Given the description of an element on the screen output the (x, y) to click on. 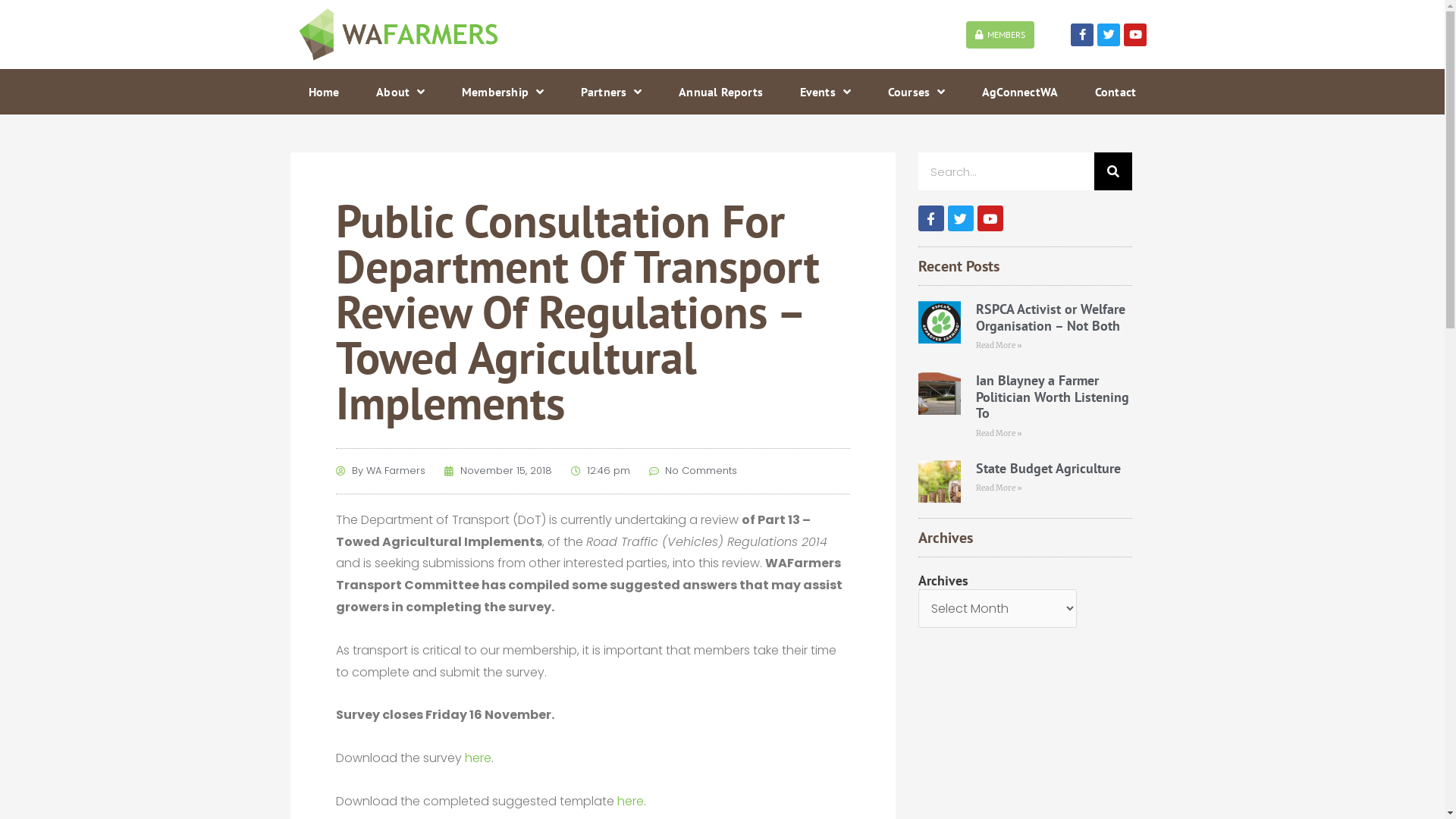
November 15, 2018 Element type: text (498, 471)
AgConnectWA Element type: text (1019, 91)
About Element type: text (400, 91)
State Budget Agriculture Element type: text (1047, 467)
Partners Element type: text (611, 91)
Contact Element type: text (1115, 91)
Membership Element type: text (502, 91)
Events Element type: text (825, 91)
Search Element type: text (1112, 171)
Courses Element type: text (916, 91)
here Element type: text (477, 757)
No Comments Element type: text (693, 471)
here Element type: text (630, 800)
Youtube Element type: text (1134, 34)
Youtube Element type: text (989, 218)
Home Element type: text (323, 91)
Annual Reports Element type: text (720, 91)
Twitter Element type: text (960, 218)
Twitter Element type: text (1108, 34)
Facebook Element type: text (930, 218)
MEMBERS Element type: text (1000, 34)
Ian Blayney a Farmer Politician Worth Listening To Element type: text (1052, 396)
Facebook-f Element type: text (1081, 34)
By WA Farmers Element type: text (379, 471)
